Given the description of an element on the screen output the (x, y) to click on. 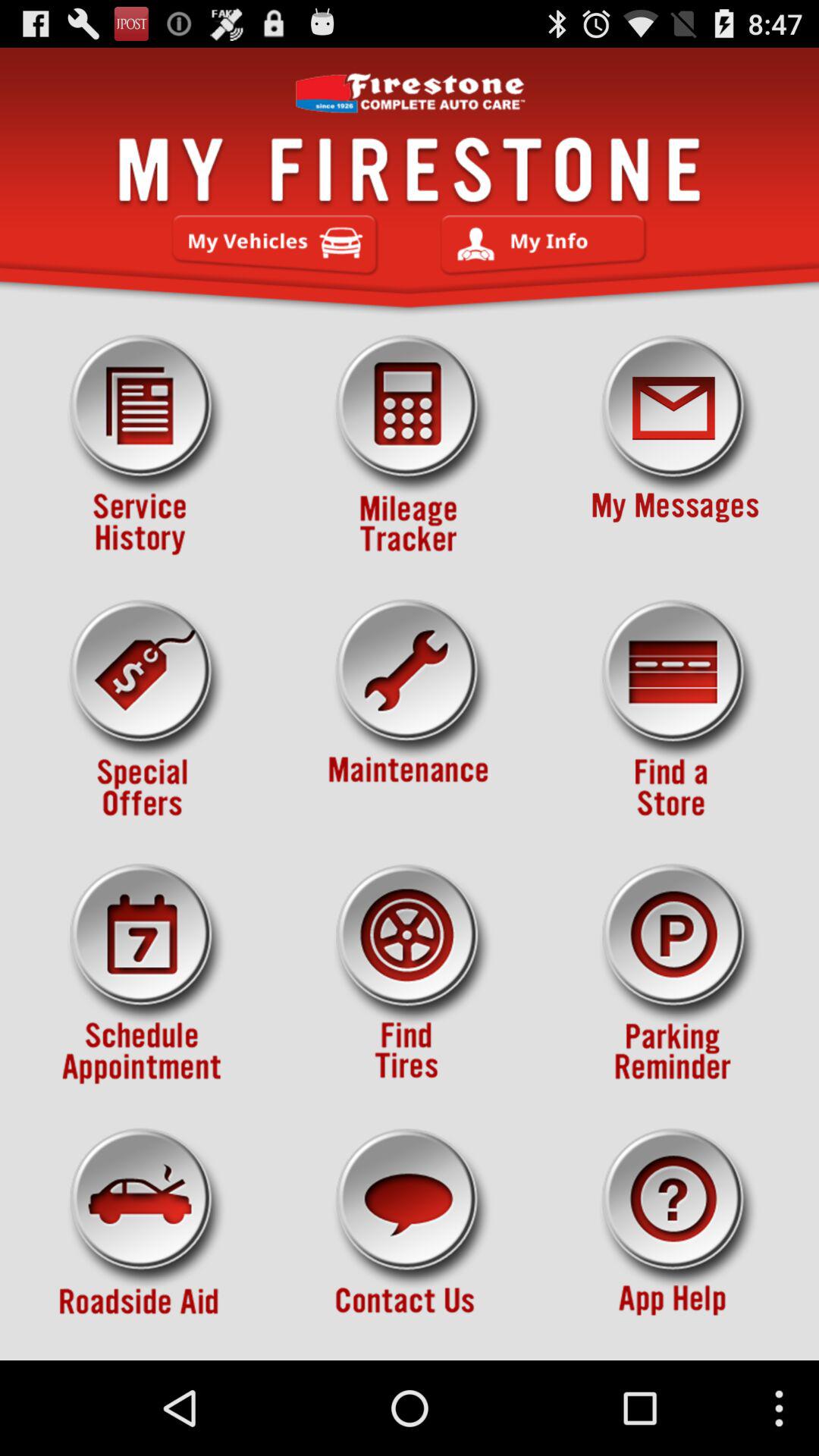
search for store (675, 709)
